Given the description of an element on the screen output the (x, y) to click on. 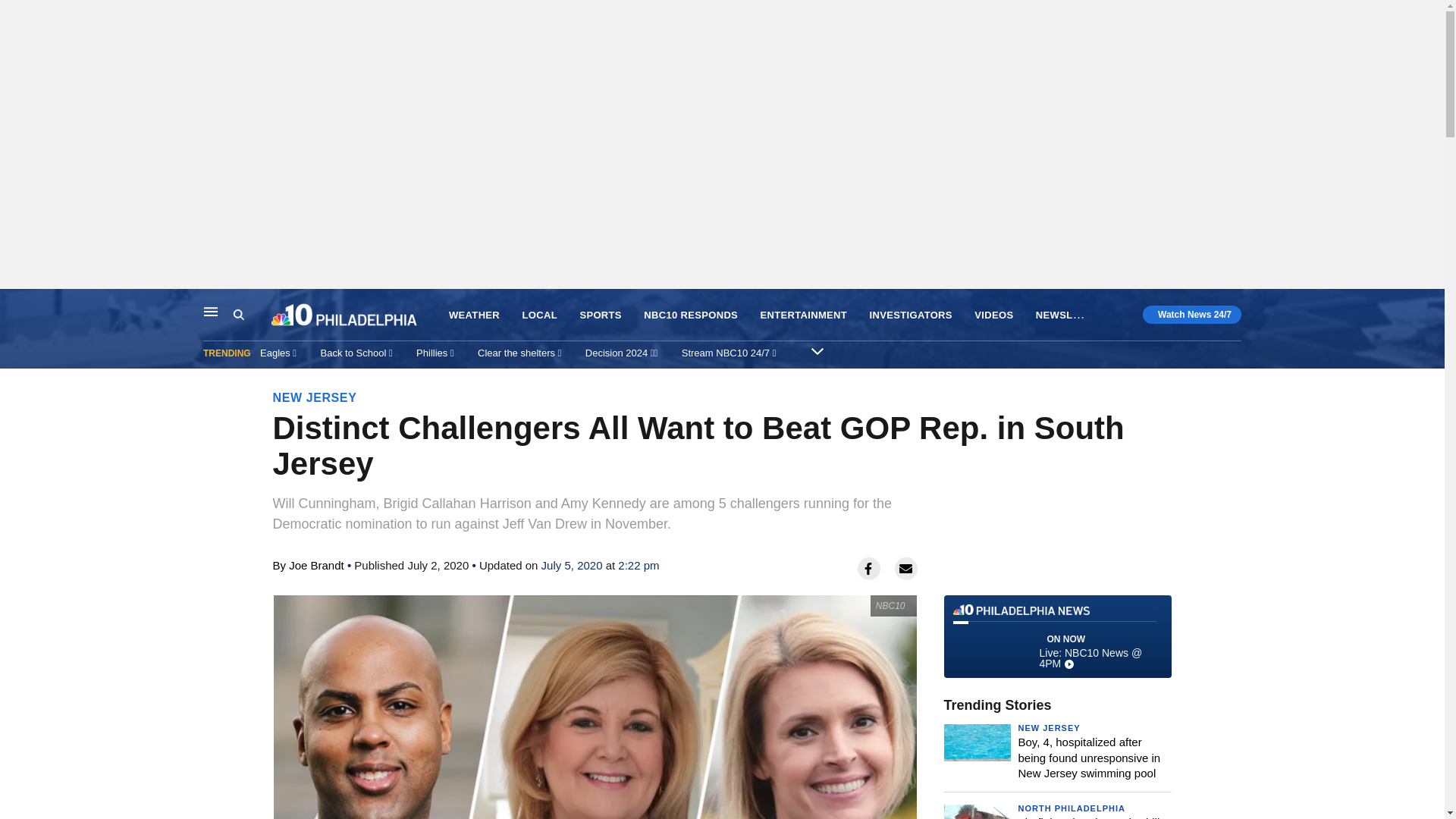
Skip to content (16, 304)
VIDEOS (993, 315)
Expand (817, 350)
ENTERTAINMENT (803, 315)
LOCAL (539, 315)
Search (252, 314)
NEWSLETTERS (1074, 314)
Main Navigation (210, 311)
Search (238, 314)
NBC10 RESPONDS (690, 315)
